Given the description of an element on the screen output the (x, y) to click on. 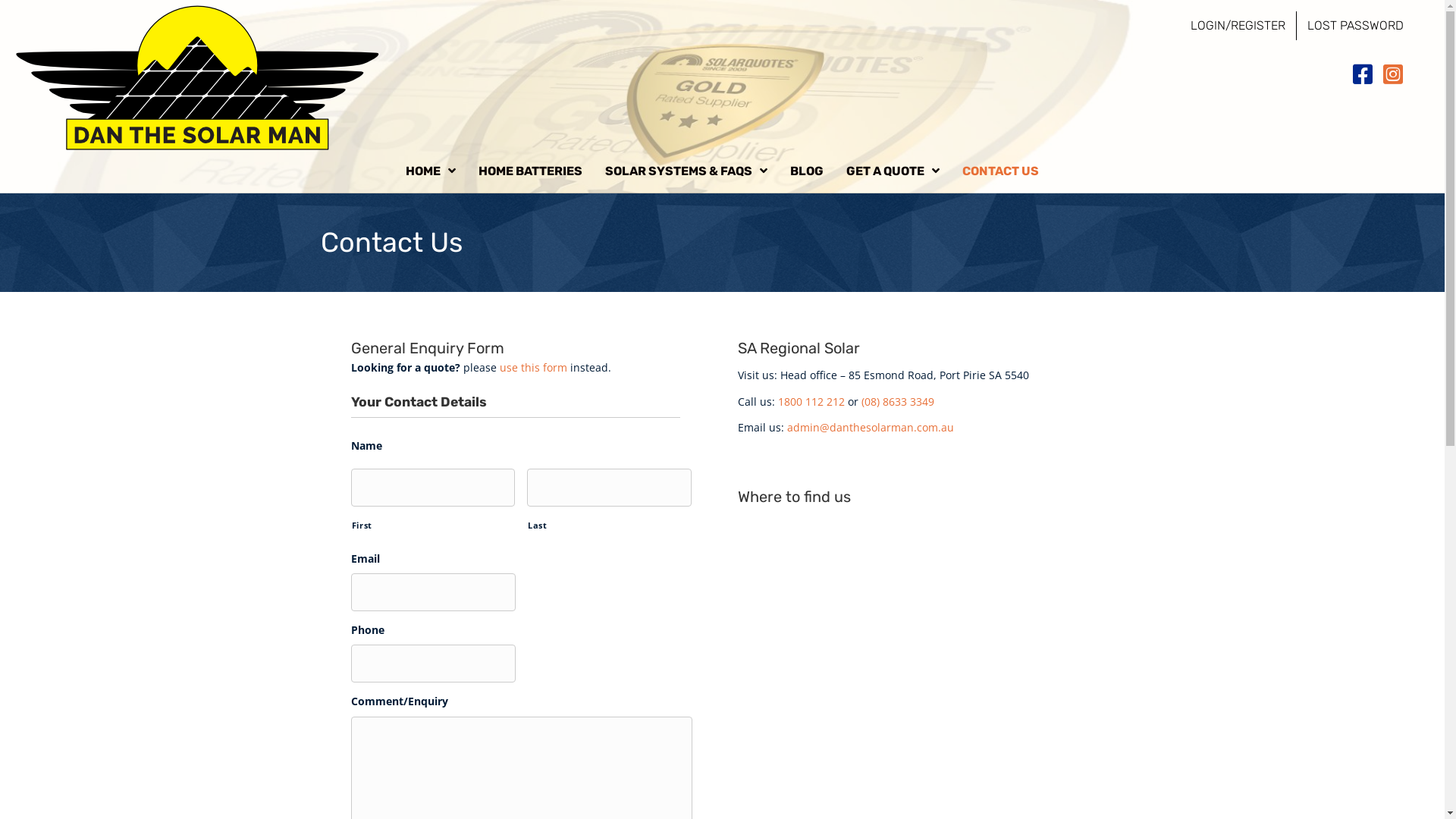
CONTACT US Element type: text (1000, 171)
admin@danthesolarman.com.au Element type: text (870, 427)
use this form Element type: text (532, 367)
GET A QUOTE Element type: text (892, 171)
1800 112 212 Element type: text (811, 401)
BLOG Element type: text (806, 171)
HOME Element type: text (430, 171)
SOLAR SYSTEMS & FAQS Element type: text (686, 171)
LOST PASSWORD Element type: text (1355, 25)
LOGIN/REGISTER Element type: text (1237, 25)
Dan the Solar Man Logo Element type: hover (197, 76)
HOME BATTERIES Element type: text (529, 171)
(08) 8633 3349 Element type: text (897, 401)
